Given the description of an element on the screen output the (x, y) to click on. 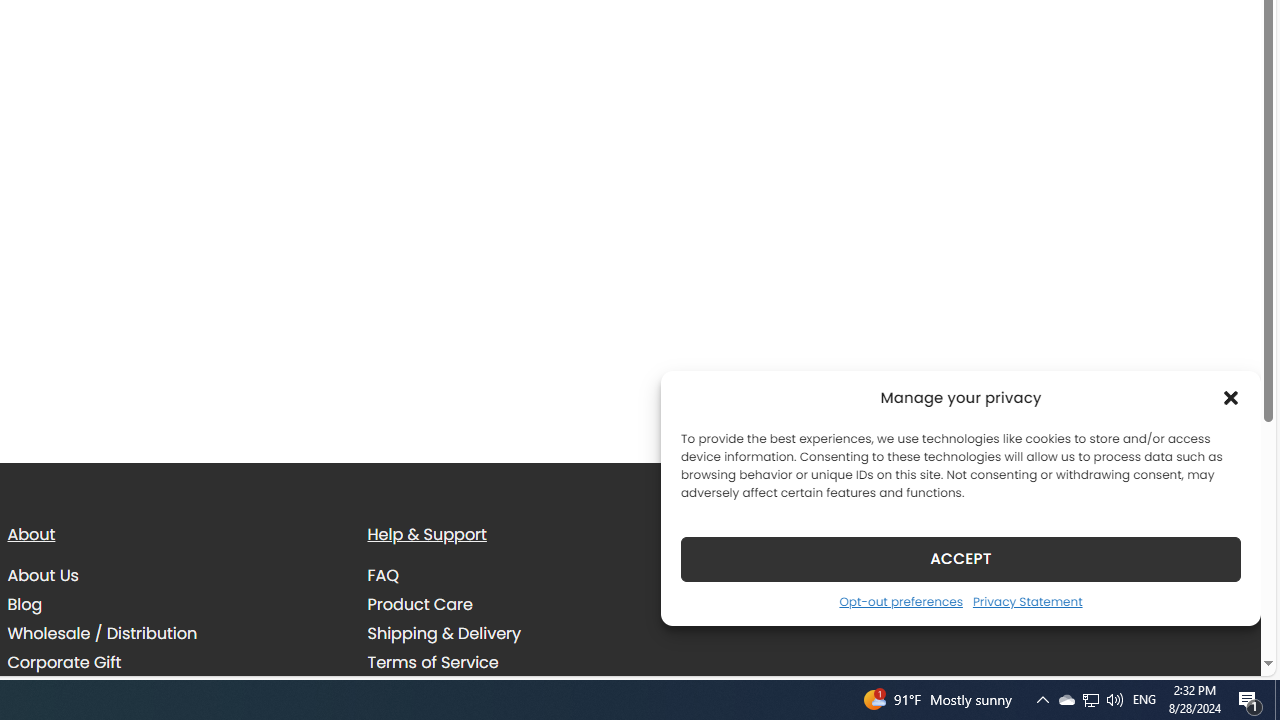
Terms of Service (532, 662)
Shipping & Delivery (532, 633)
FAQ (532, 576)
Opt-out preferences (900, 601)
About Us (42, 575)
Corporate Gift (63, 661)
Class: cmplz-close (1231, 397)
About Us (171, 576)
FAQ (383, 575)
Shipping & Delivery (444, 633)
Blog (24, 605)
Privacy Statement (1026, 601)
Blog (171, 604)
Product Care (532, 604)
Terms of Service (433, 661)
